Given the description of an element on the screen output the (x, y) to click on. 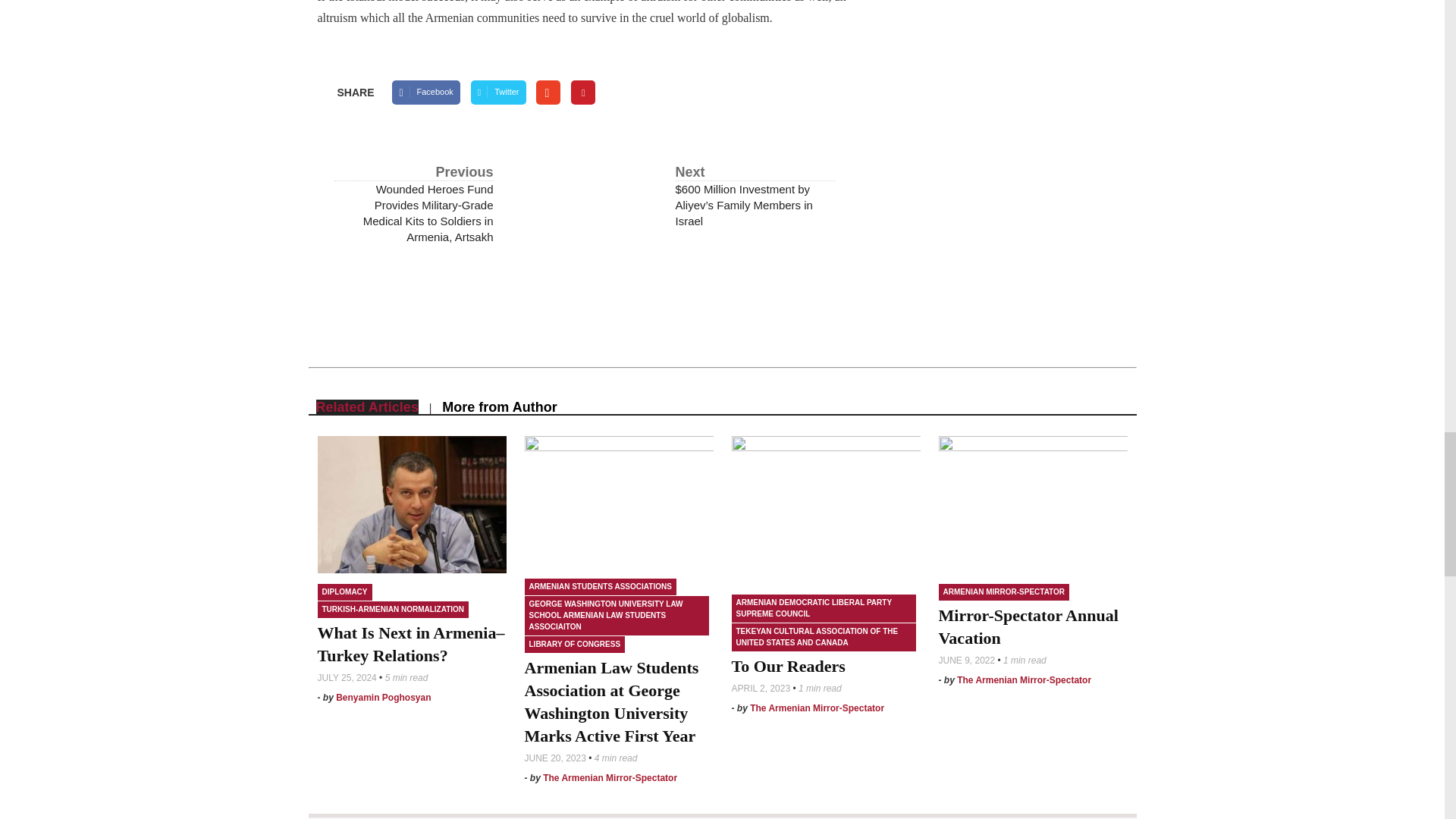
To Our Readers (825, 509)
Mirror-Spectator Annual Vacation (1032, 504)
To Our Readers (787, 665)
